Given the description of an element on the screen output the (x, y) to click on. 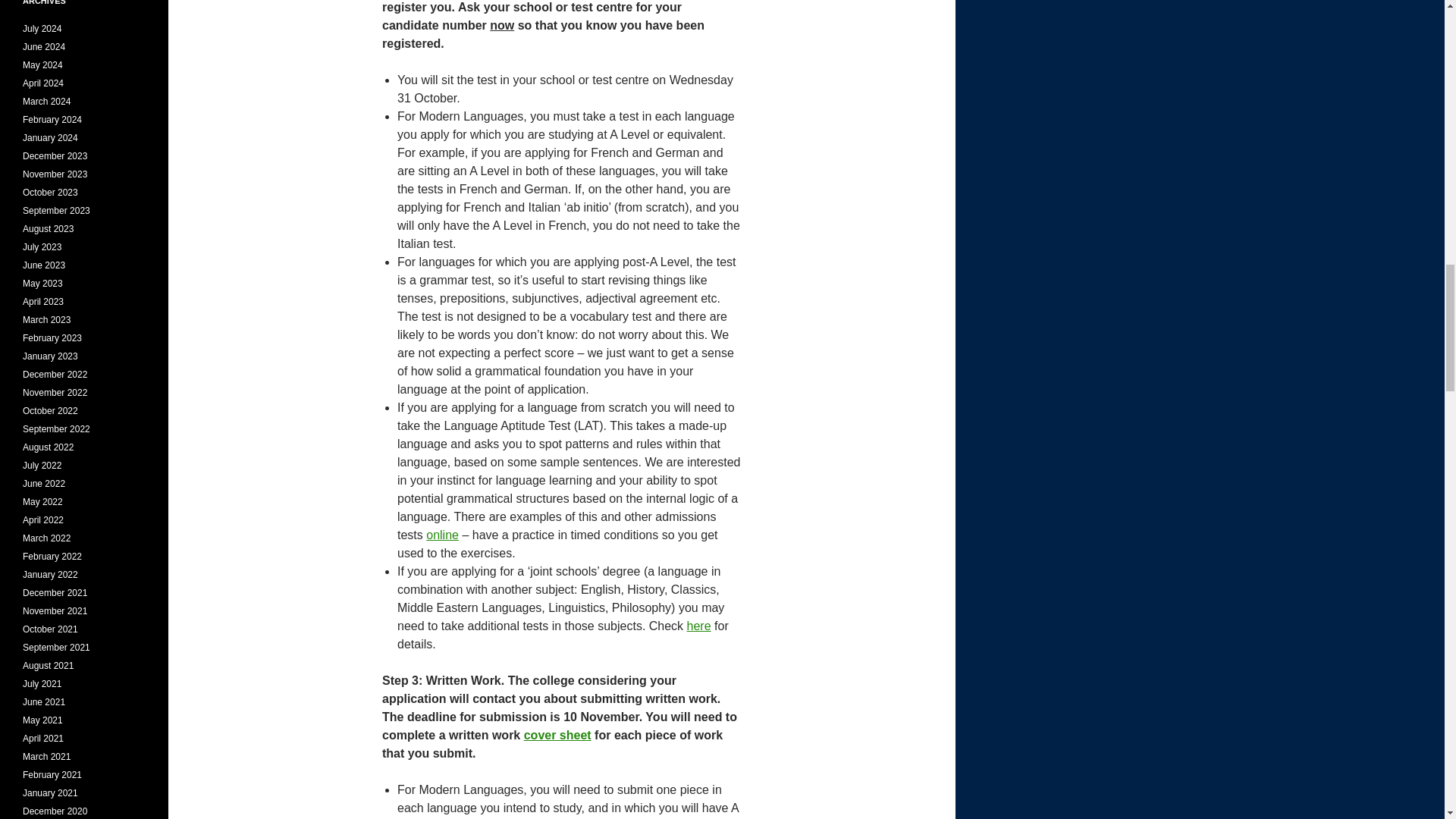
cover sheet (557, 735)
here (699, 625)
online (442, 534)
